Given the description of an element on the screen output the (x, y) to click on. 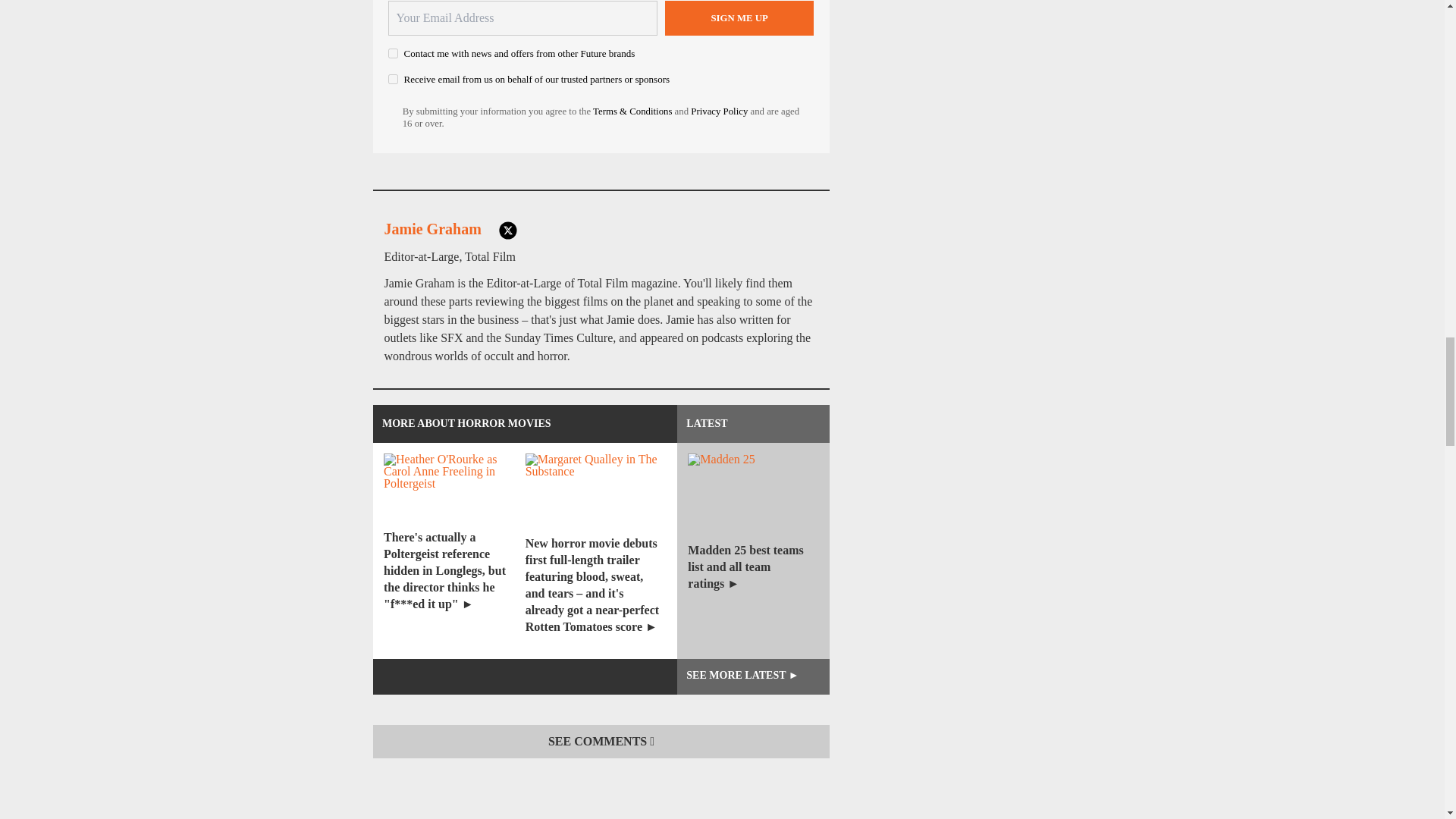
on (392, 53)
on (392, 79)
Sign me up (739, 18)
